Given the description of an element on the screen output the (x, y) to click on. 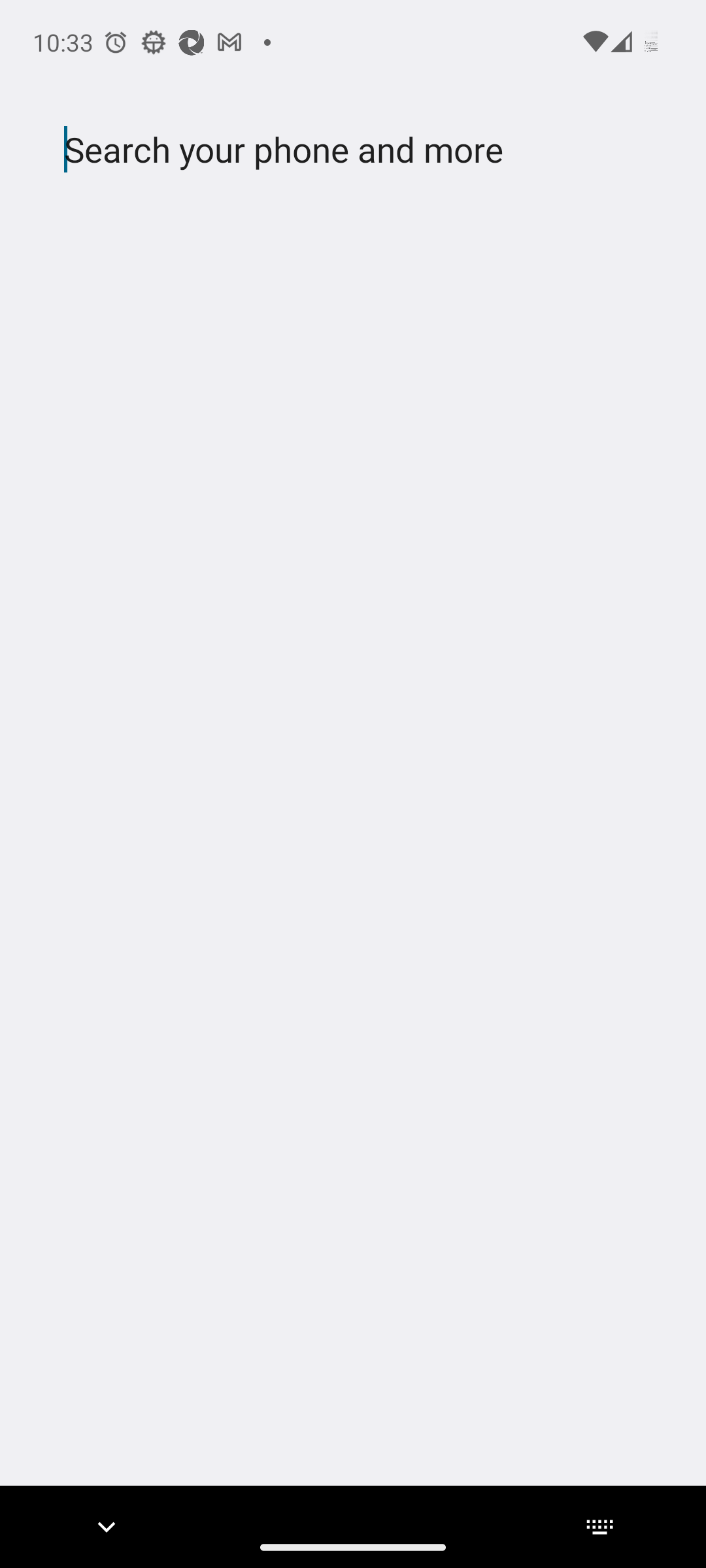
Search your phone and more (321, 149)
